Given the description of an element on the screen output the (x, y) to click on. 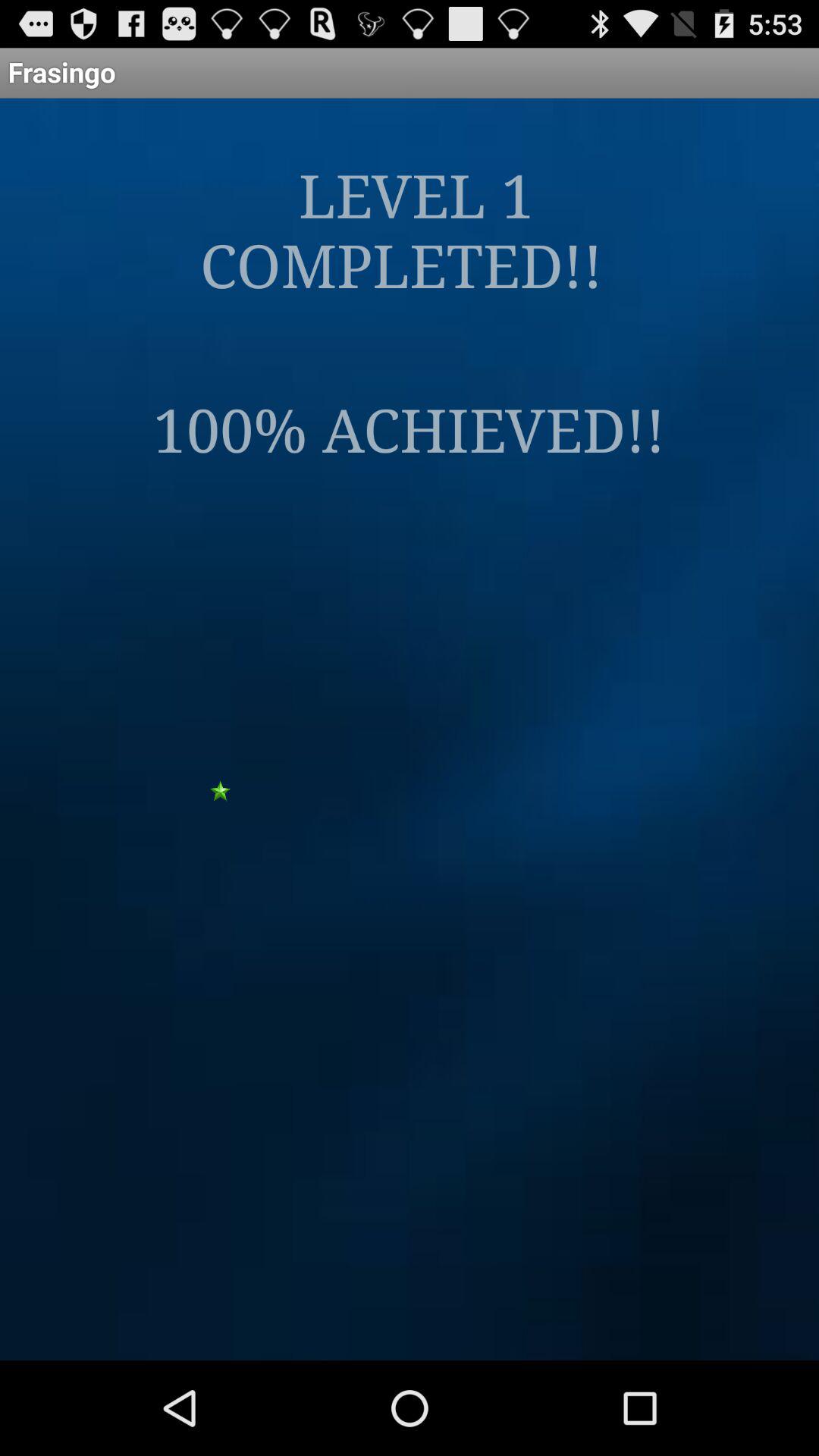
tap app below  level 1 completed!!  item (408, 427)
